Given the description of an element on the screen output the (x, y) to click on. 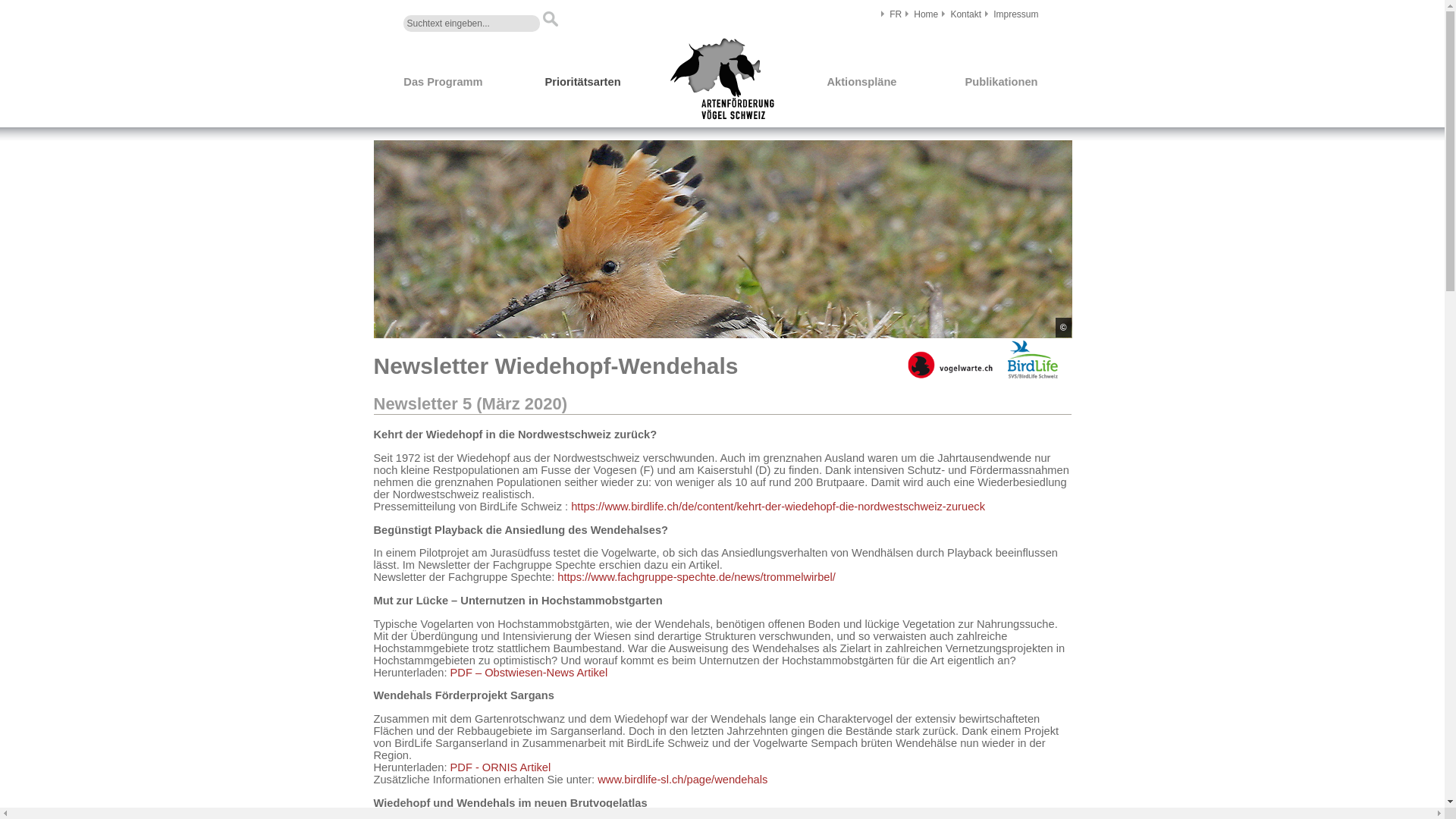
https://www.fachgruppe-spechte.de/news/trommelwirbel/ Element type: text (696, 577)
Das Programm Element type: text (442, 82)
Home Element type: text (925, 14)
Impressum Element type: text (1015, 14)
www.birdlife-sl.ch/page/wendehals Element type: text (682, 779)
FR Element type: text (895, 14)
PDF - ORNIS Artikel Element type: text (500, 767)
Publikationen Element type: text (1000, 82)
Kontakt Element type: text (965, 14)
